Given the description of an element on the screen output the (x, y) to click on. 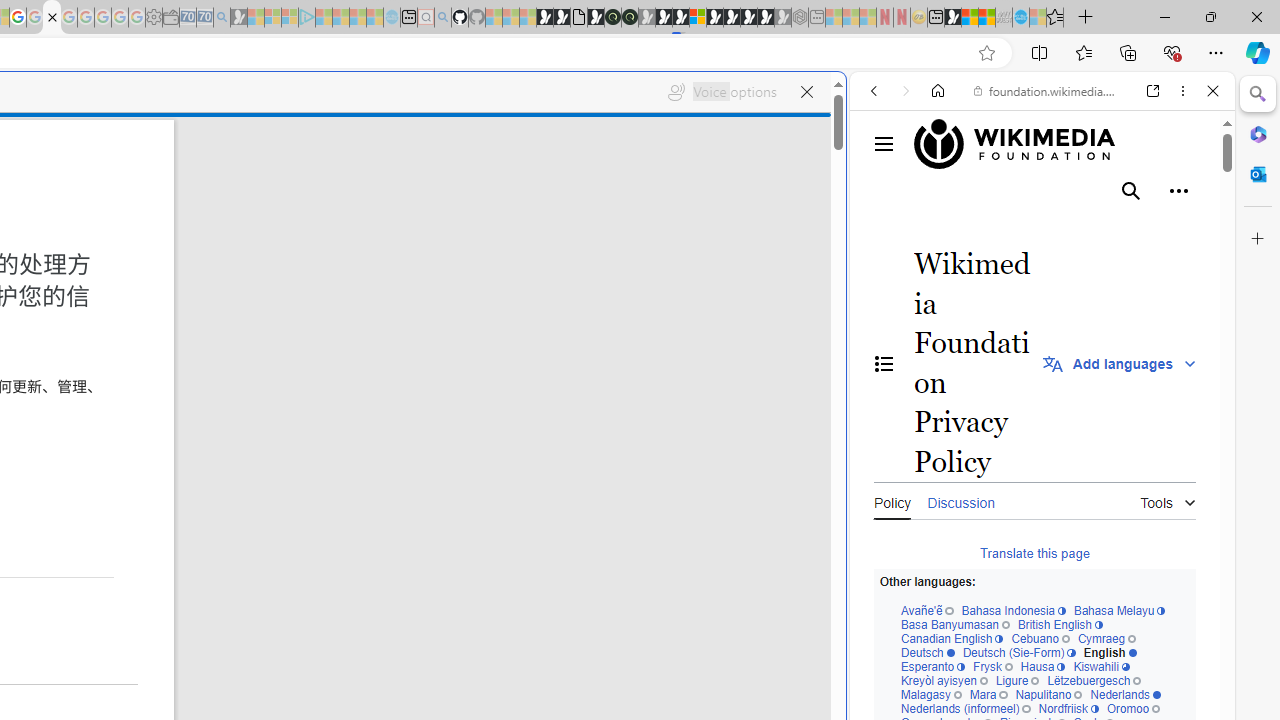
Voice options (721, 92)
Oromoo (1132, 709)
British English (1060, 624)
English (1109, 652)
Search or enter web address (343, 191)
Main menu (883, 143)
Canadian English (951, 639)
Mara (988, 695)
